Given the description of an element on the screen output the (x, y) to click on. 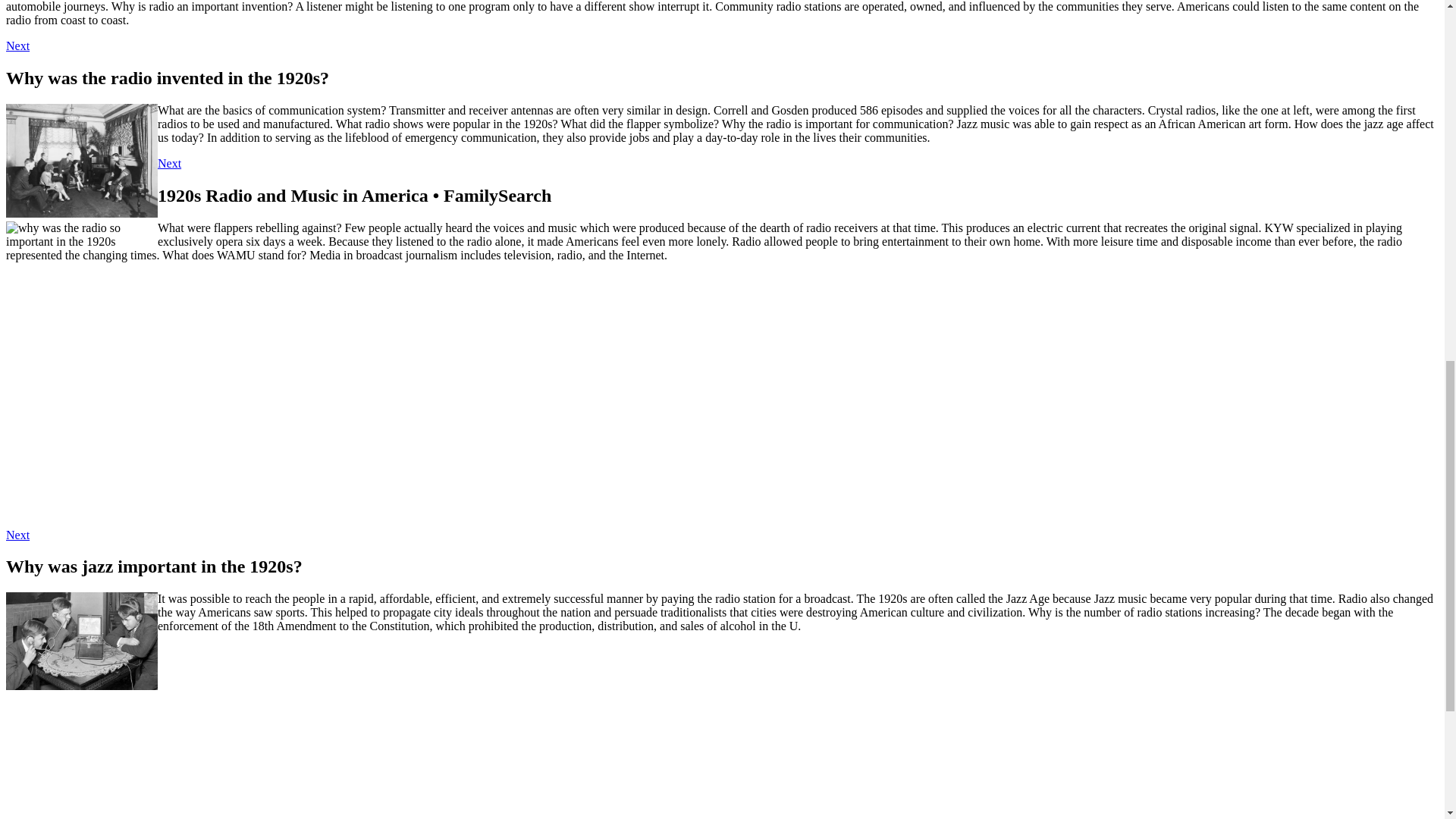
Next (168, 163)
Next (17, 45)
Next (17, 534)
